Given the description of an element on the screen output the (x, y) to click on. 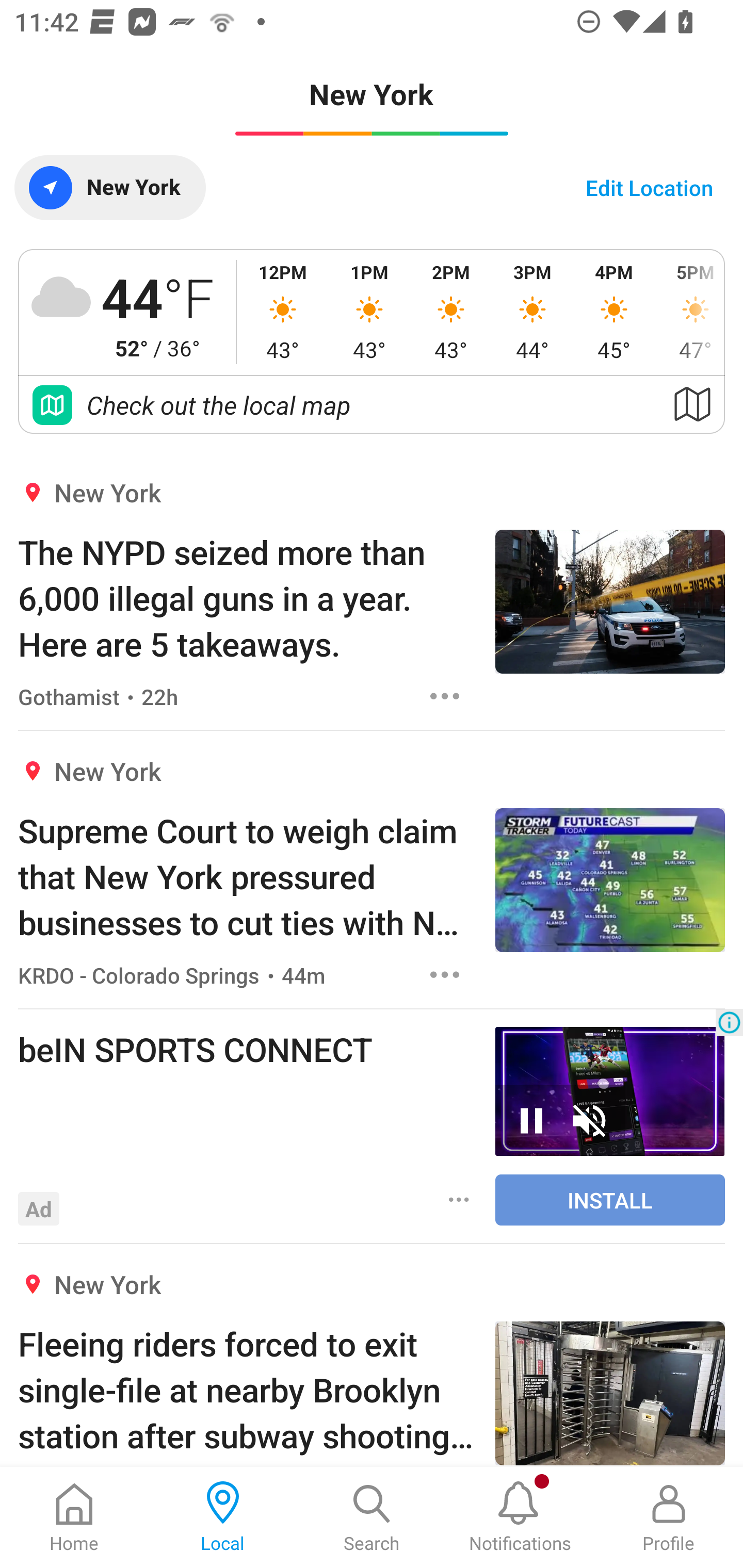
New York (109, 187)
Edit Location (648, 187)
12PM 43° (282, 311)
1PM 43° (369, 311)
2PM 43° (450, 311)
3PM 44° (532, 311)
4PM 45° (613, 311)
5PM 47° (689, 311)
Check out the local map (371, 405)
Options (444, 696)
Options (444, 975)
Ad Choices Icon (729, 1022)
beIN SPORTS CONNECT (247, 1048)
INSTALL (610, 1200)
Options (459, 1200)
Home (74, 1517)
Search (371, 1517)
Notifications, New notification Notifications (519, 1517)
Profile (668, 1517)
